Given the description of an element on the screen output the (x, y) to click on. 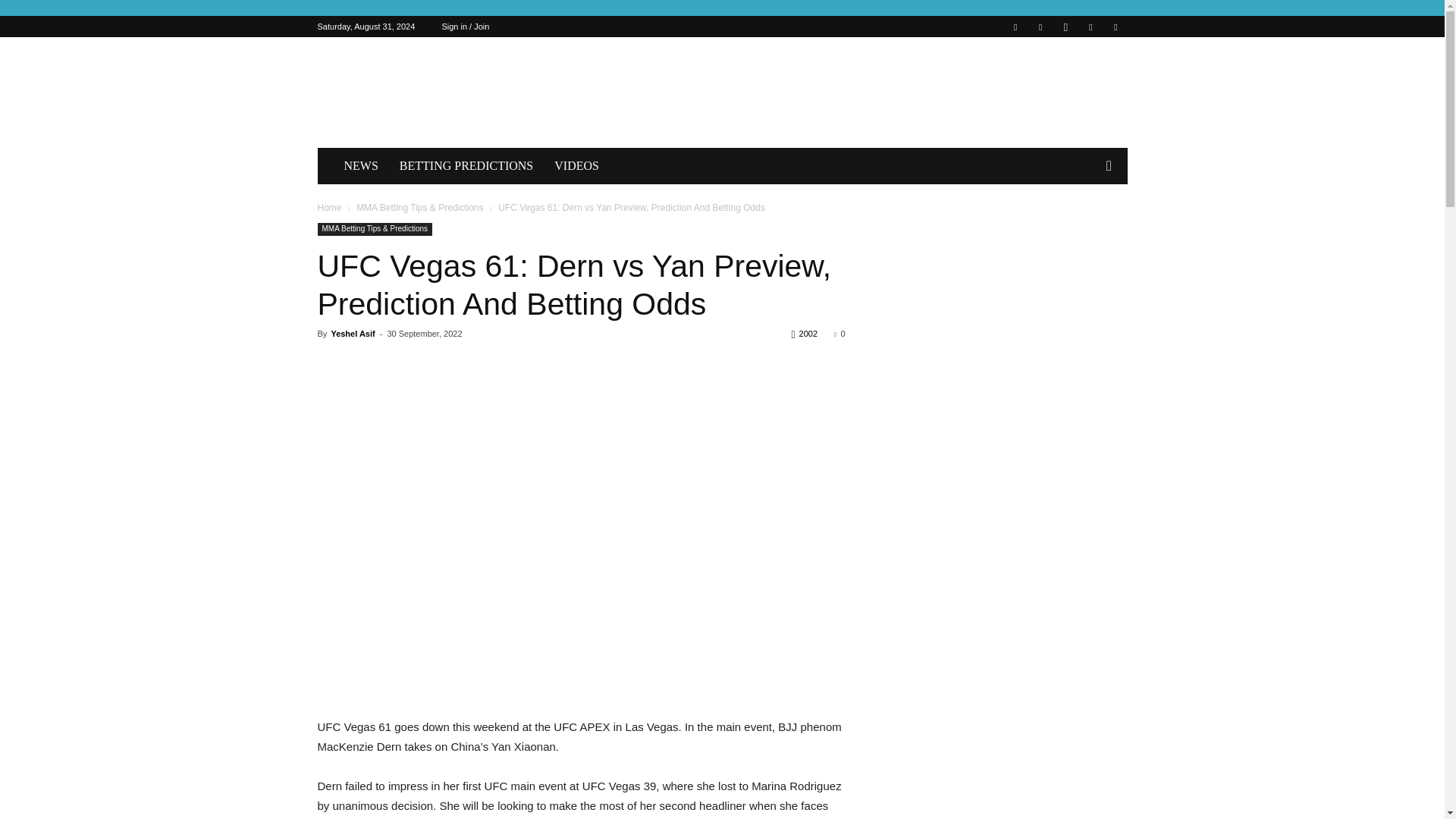
Twitter (1090, 25)
NEWS (360, 166)
Instagram (1065, 25)
Facebook (1015, 25)
Youtube (1114, 25)
